Given the description of an element on the screen output the (x, y) to click on. 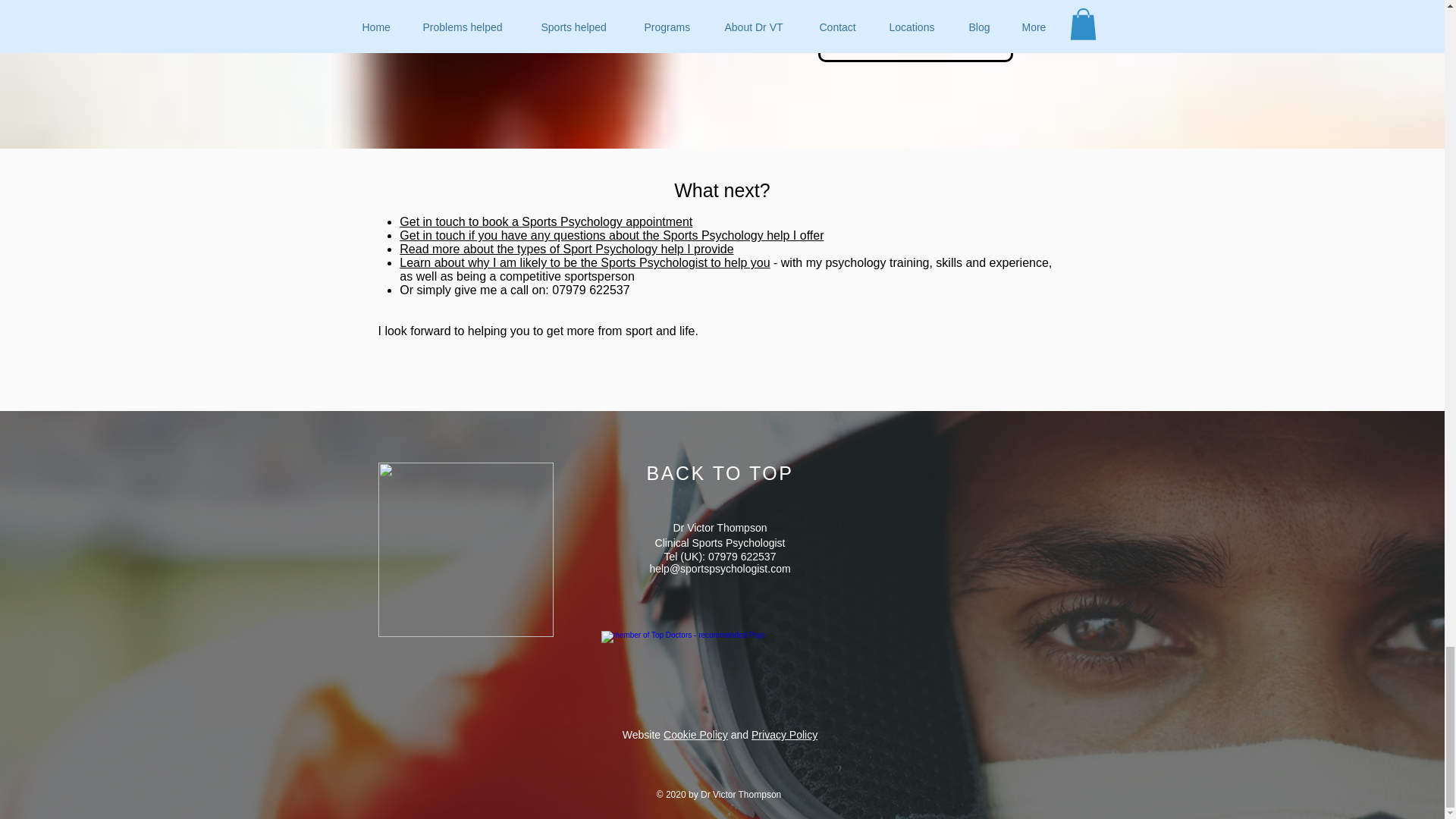
Get in touch to book a Sports Psychology appointment (545, 221)
Contact (913, 39)
